Given the description of an element on the screen output the (x, y) to click on. 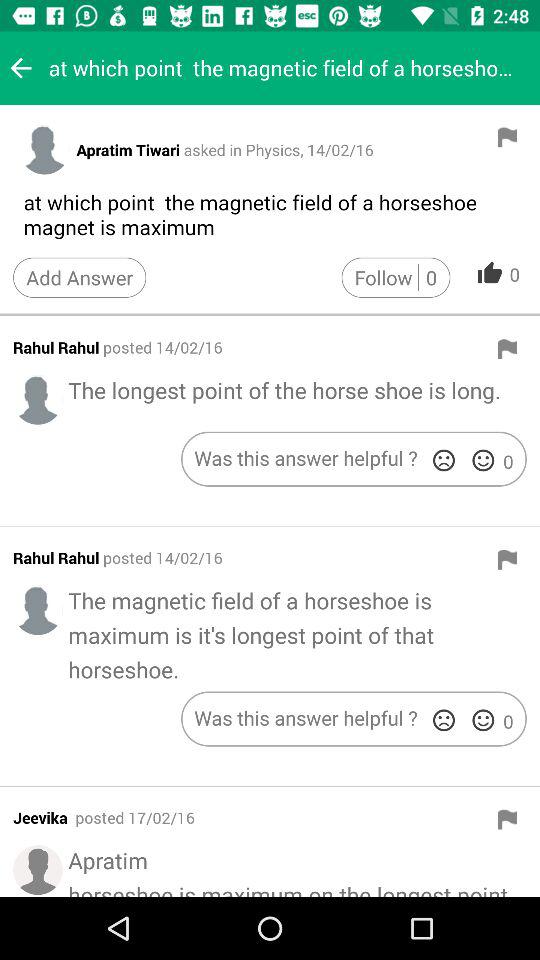
flag the post (507, 137)
